Given the description of an element on the screen output the (x, y) to click on. 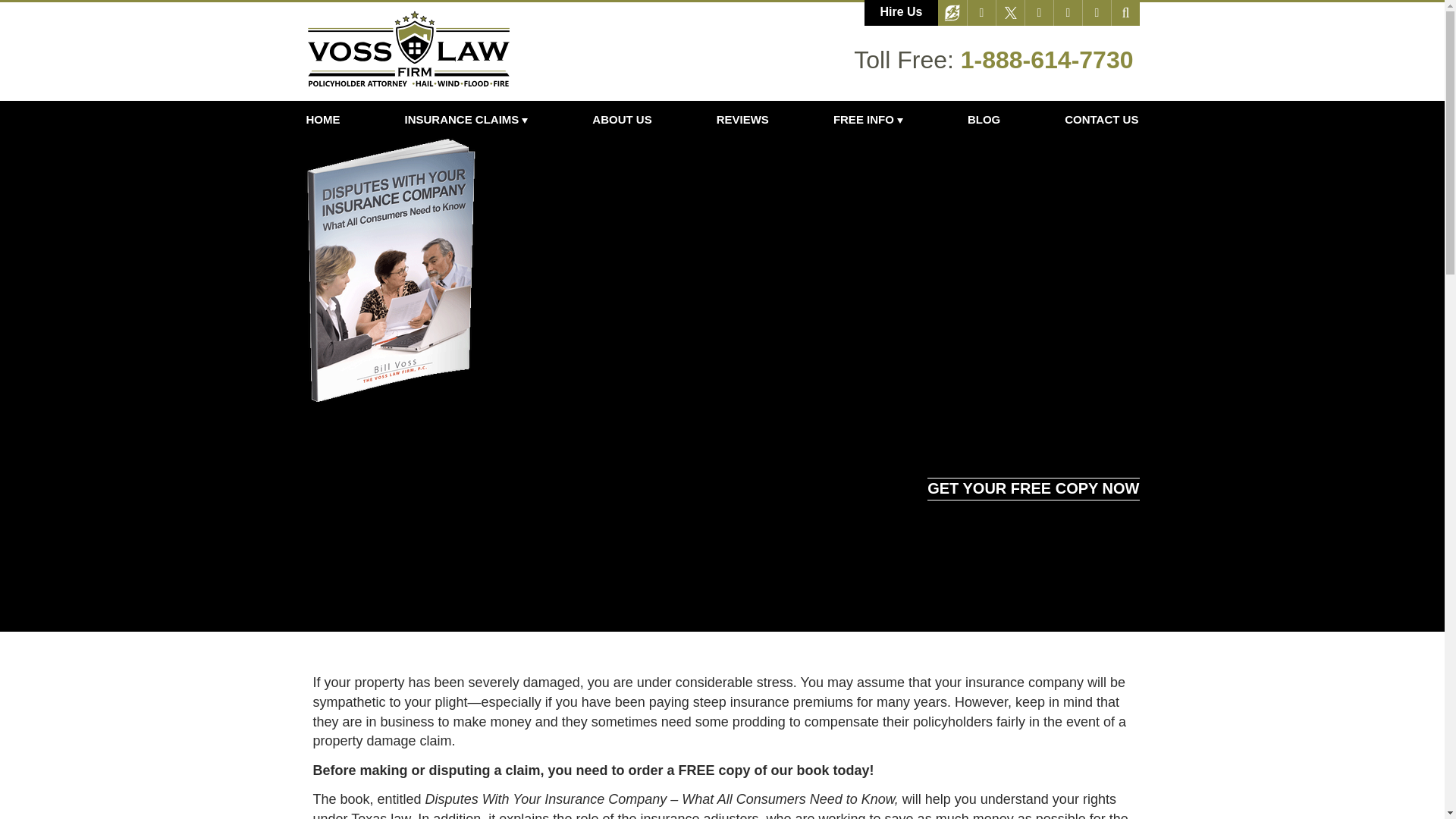
INSURANCE CLAIMS (465, 119)
HOME (336, 119)
Hire Us (900, 12)
Search (1125, 12)
